Given the description of an element on the screen output the (x, y) to click on. 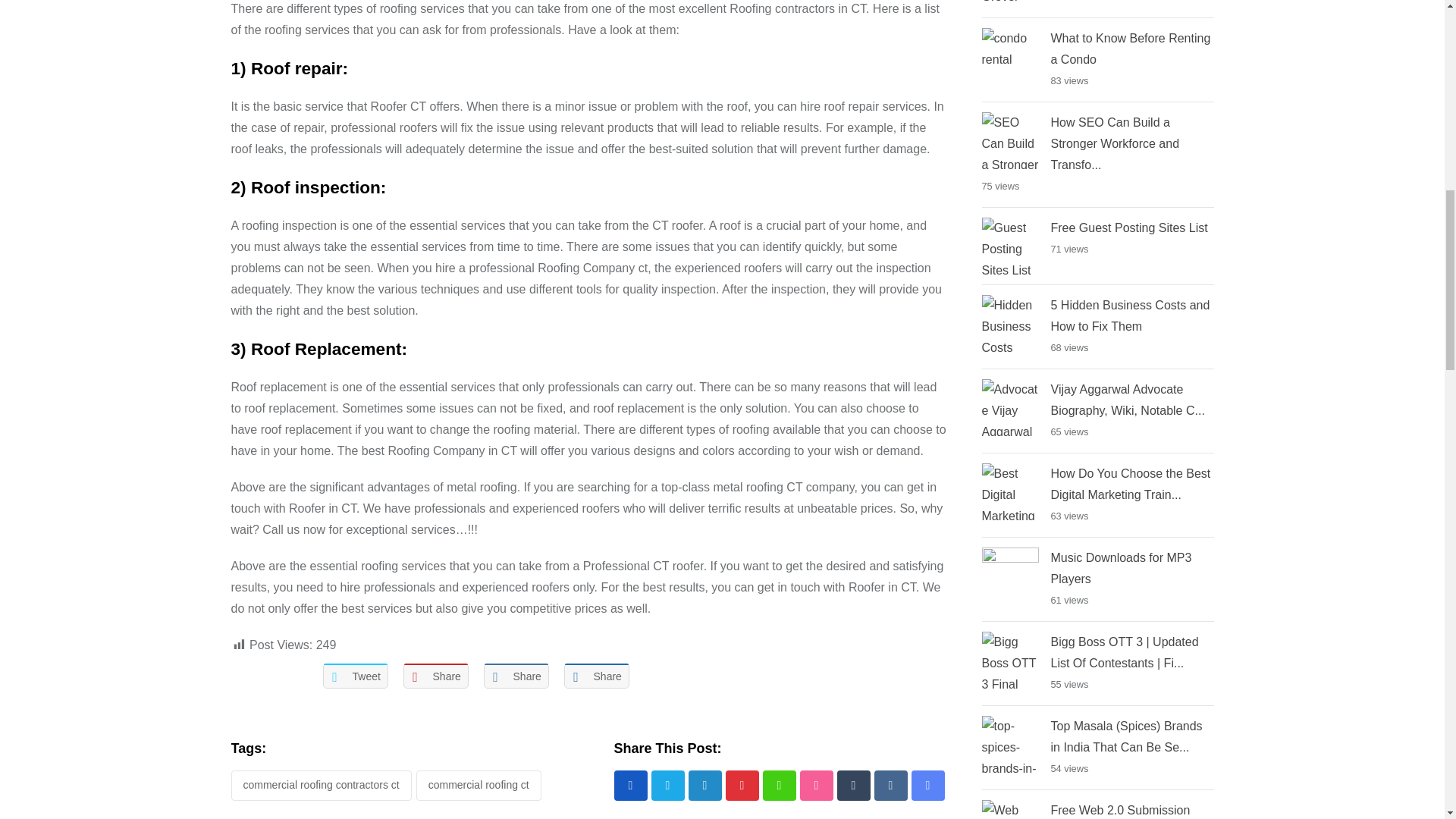
Share on Pinterest (435, 675)
Share on Twitter (355, 675)
Share on LinkedIn (515, 675)
